Given the description of an element on the screen output the (x, y) to click on. 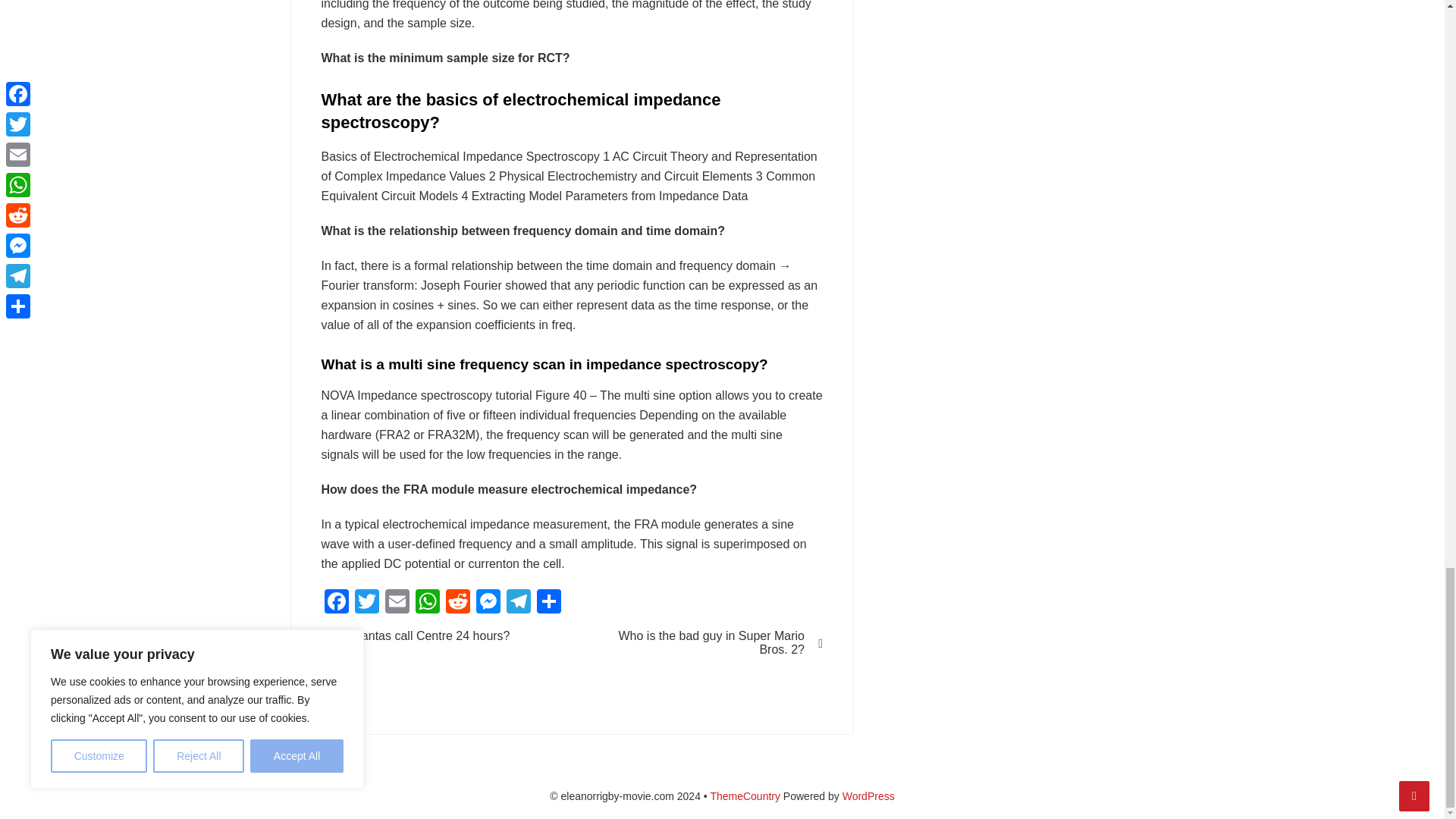
Email (396, 602)
Reddit (457, 602)
Twitter (366, 602)
WhatsApp (427, 602)
Facebook (336, 602)
Facebook (336, 602)
Reddit (457, 602)
Messenger (488, 602)
Twitter (366, 602)
Email (396, 602)
